Given the description of an element on the screen output the (x, y) to click on. 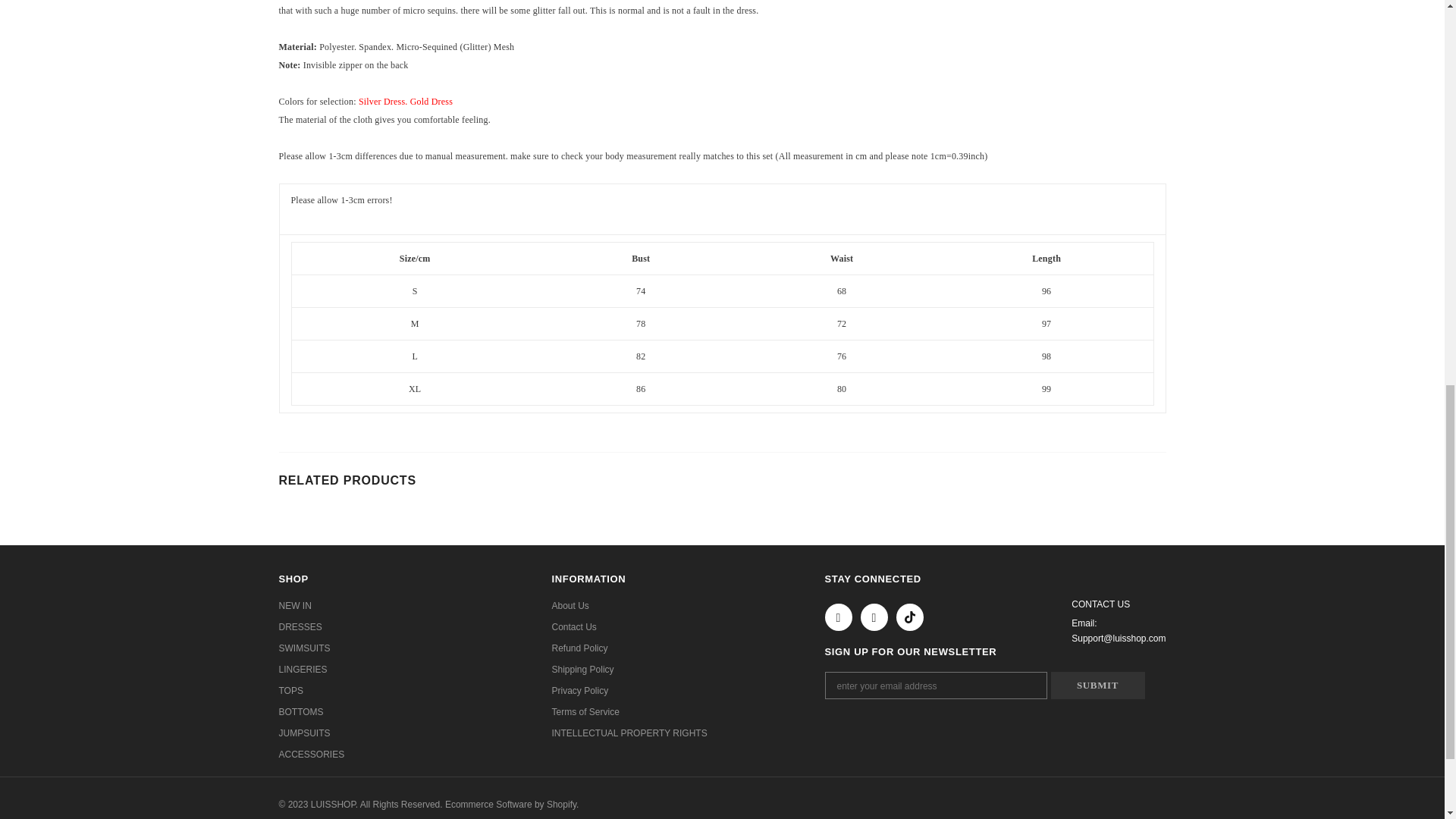
Submit (1097, 685)
